Given the description of an element on the screen output the (x, y) to click on. 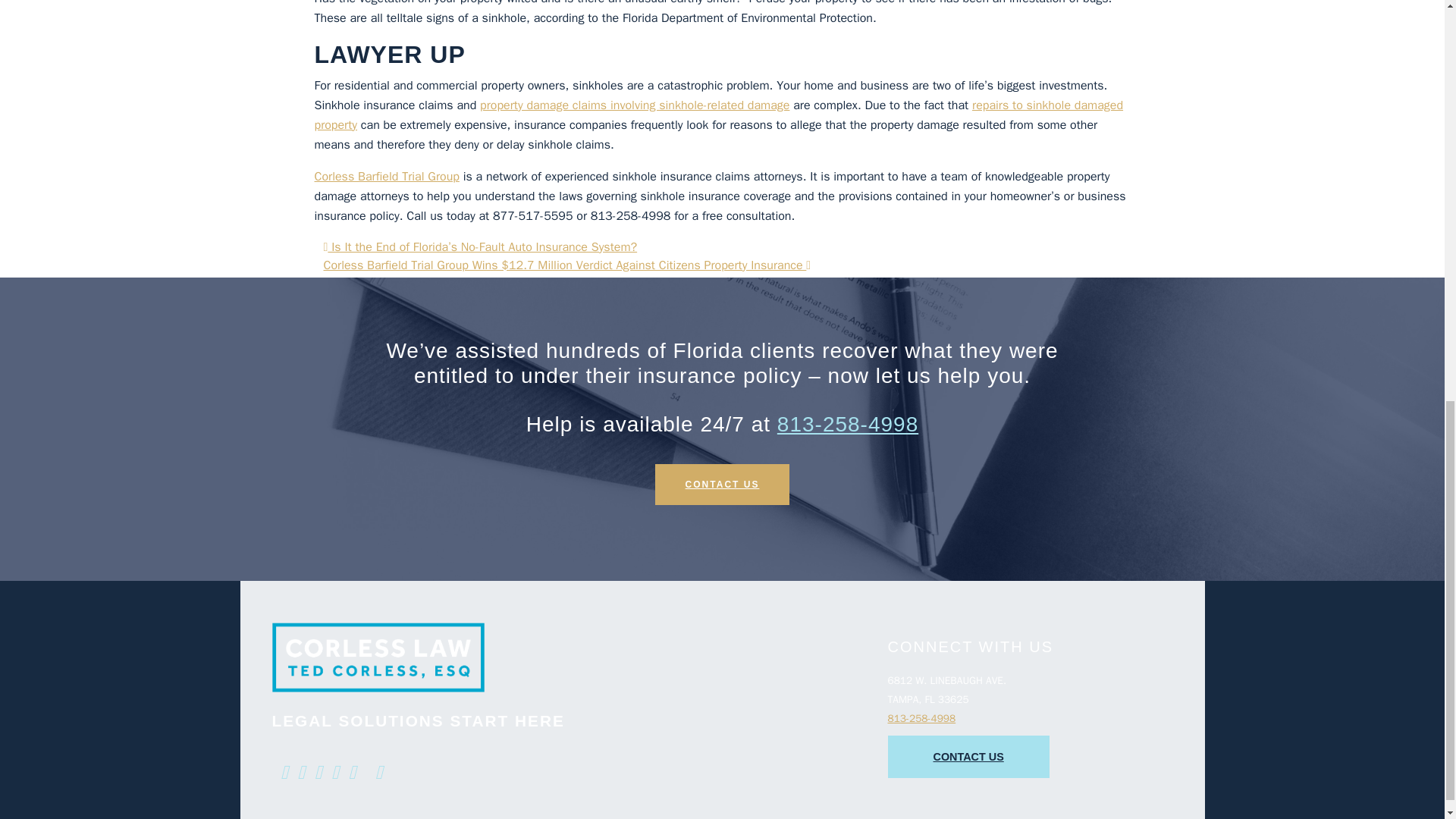
813-258-4998 (847, 423)
CONTACT US (722, 484)
813-258-4998 (920, 717)
CONTACT US (967, 756)
Corless Barfield Trial Group (386, 176)
property damage claims involving sinkhole-related damage (634, 105)
repairs to sinkhole damaged property (718, 114)
